Given the description of an element on the screen output the (x, y) to click on. 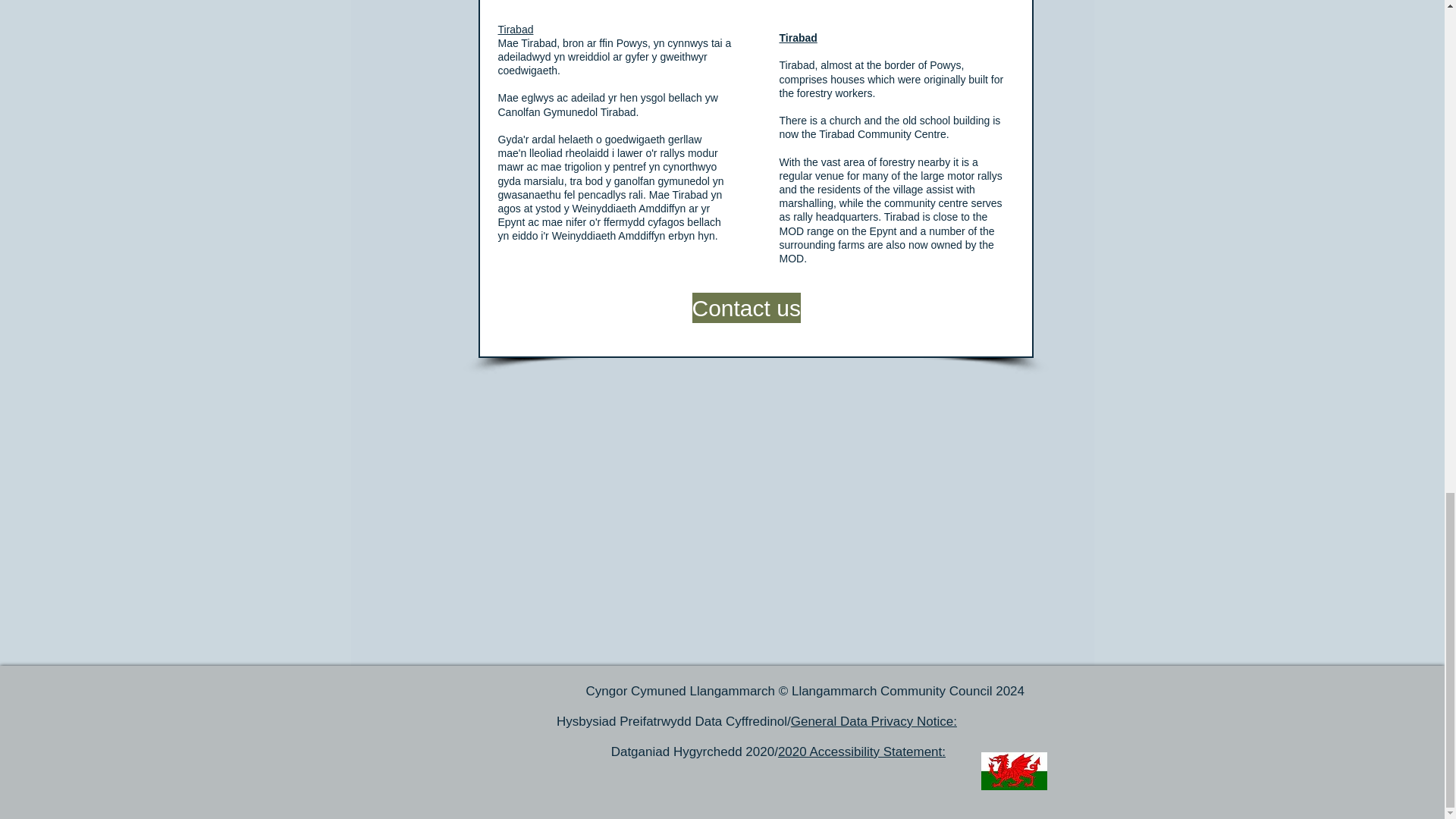
2020 Accessibility Statement: (860, 751)
General Data Privacy Notice: (873, 721)
Contact us (745, 307)
